Given the description of an element on the screen output the (x, y) to click on. 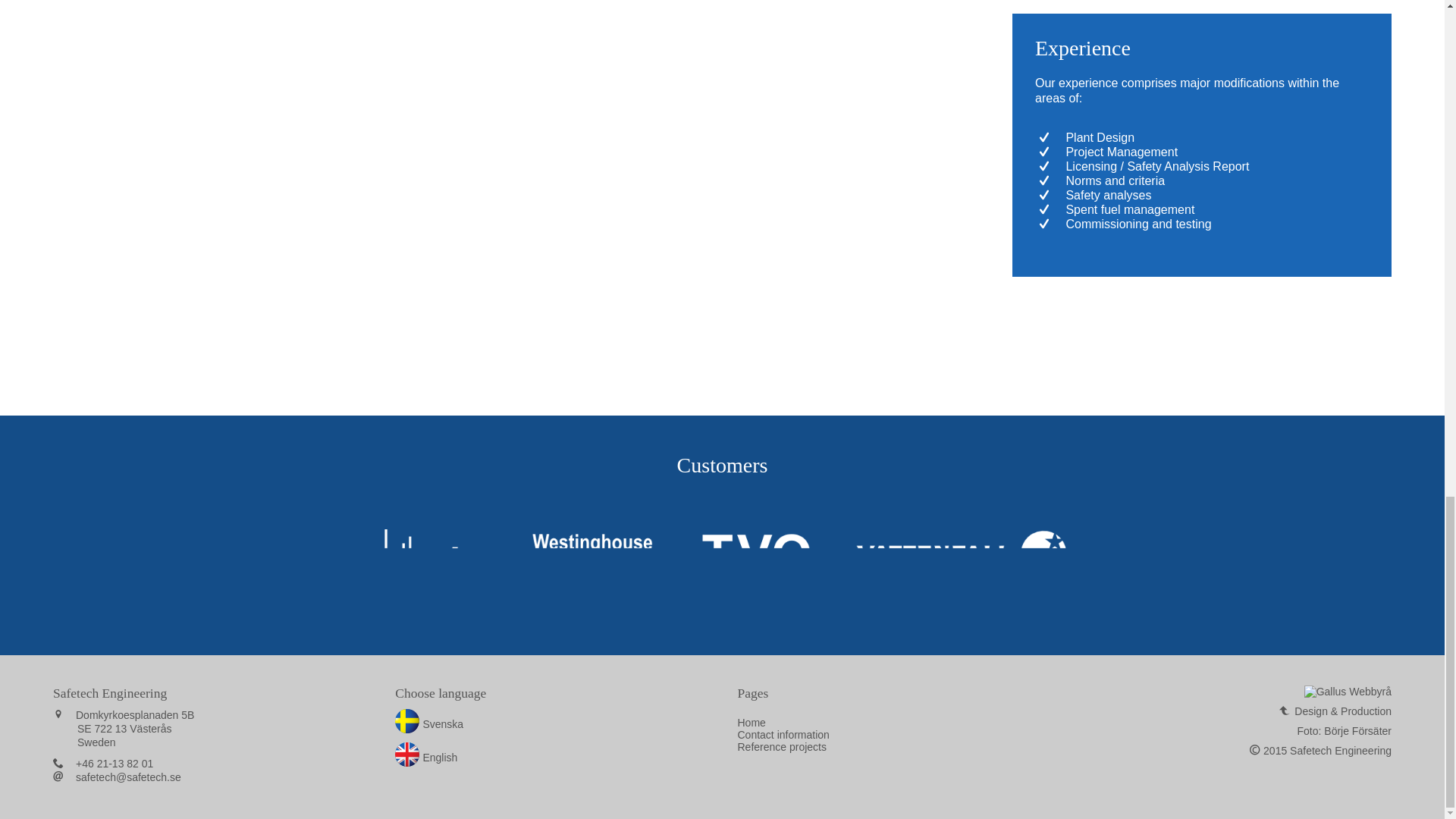
English (425, 757)
Svenska (428, 724)
Contact information (782, 734)
Home (750, 722)
Reference projects (781, 746)
